Given the description of an element on the screen output the (x, y) to click on. 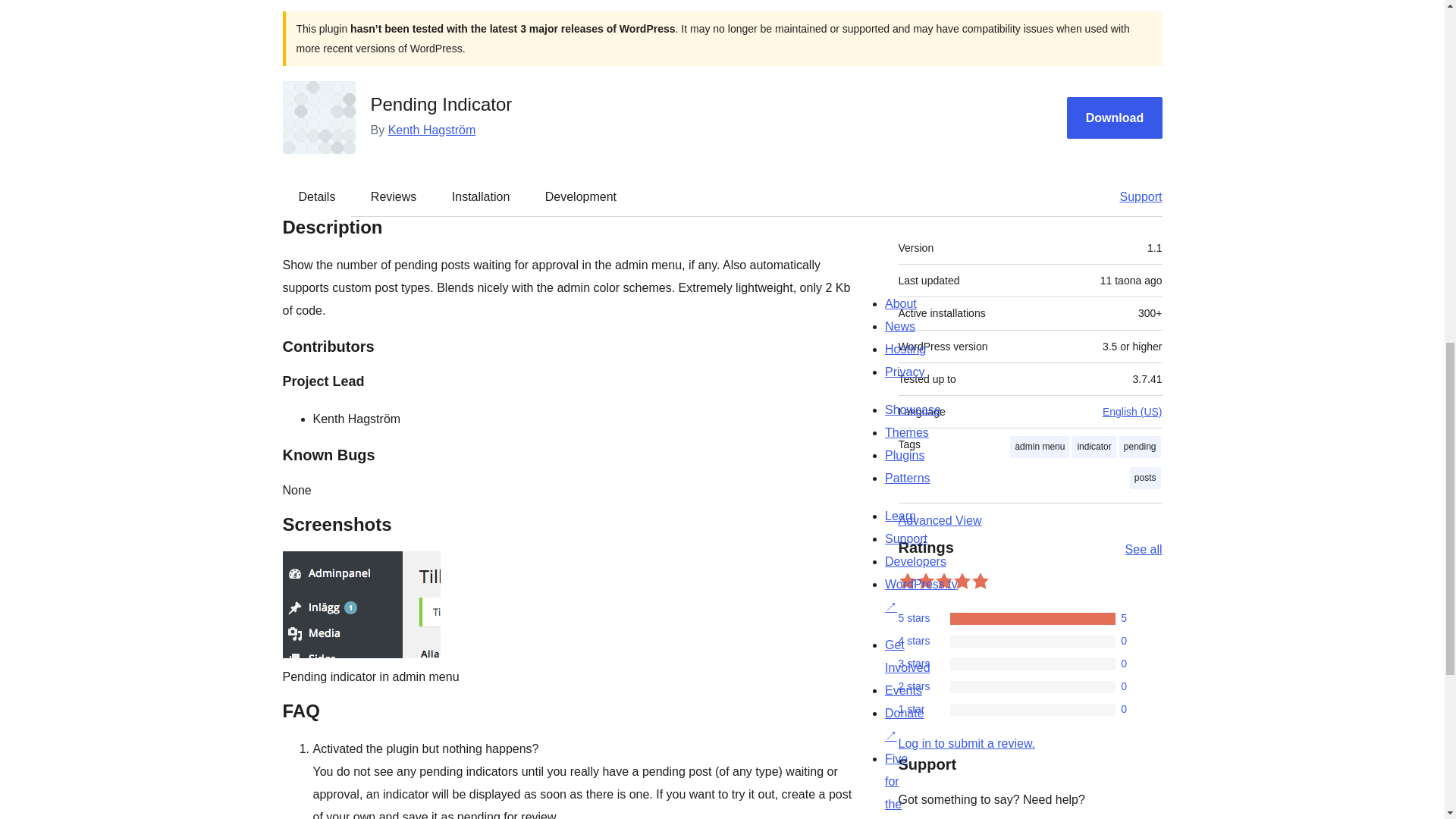
Details (316, 196)
Reviews (392, 196)
Support (1132, 196)
Log in to WordPress.org (966, 743)
Download (1114, 117)
Development (580, 196)
Installation (480, 196)
